Given the description of an element on the screen output the (x, y) to click on. 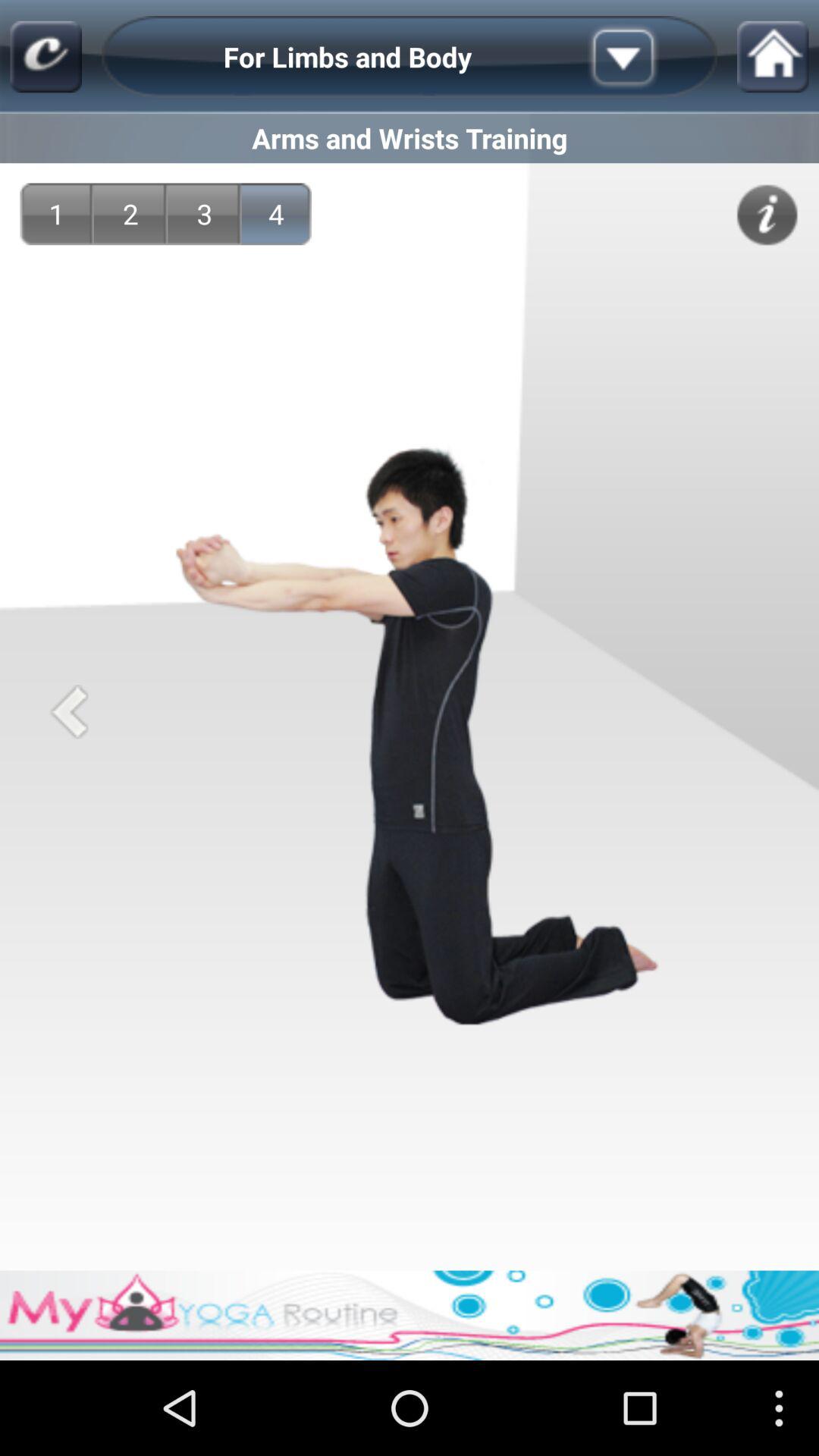
select app to the left of the 4 icon (204, 214)
